Given the description of an element on the screen output the (x, y) to click on. 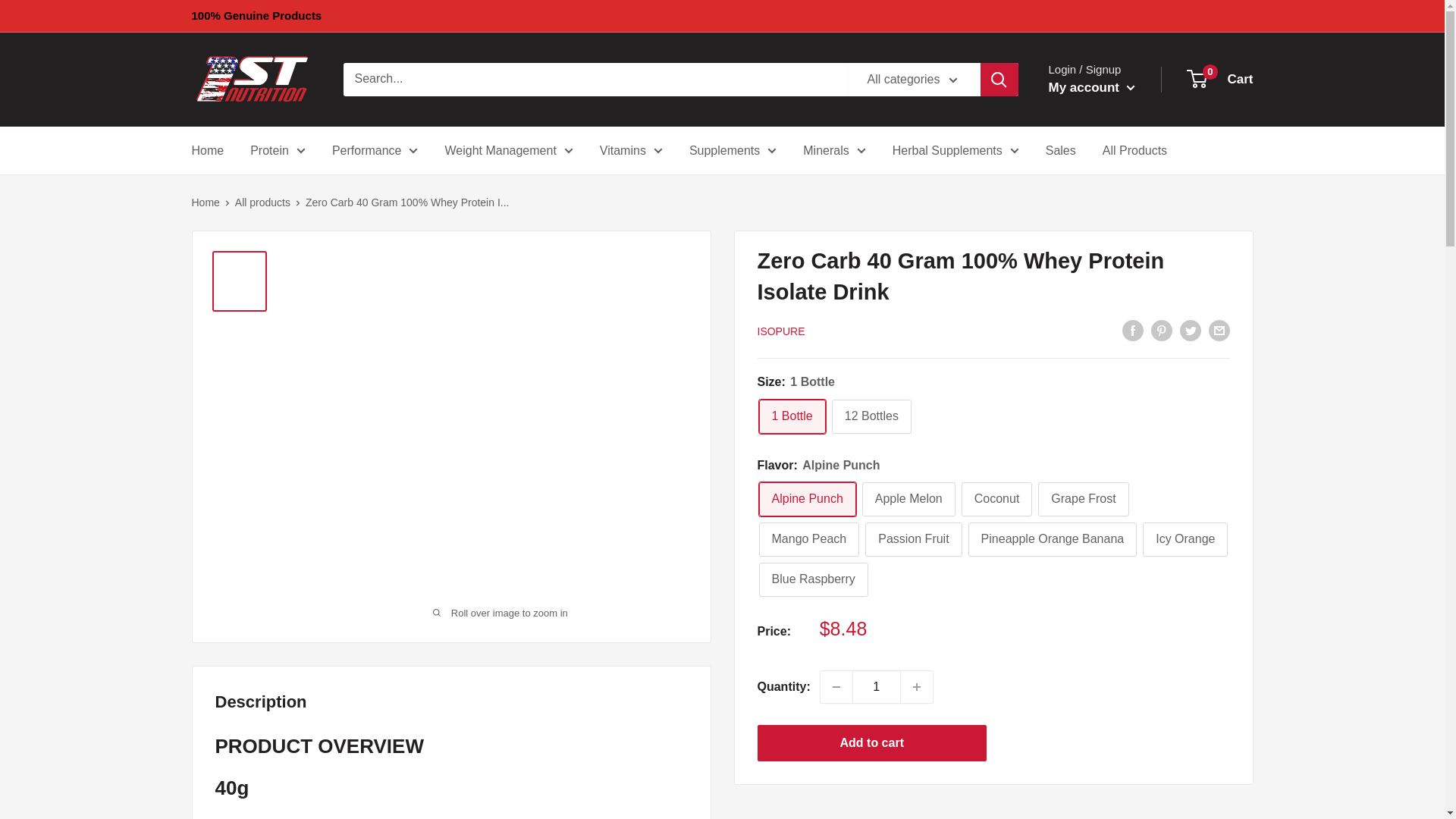
1 (876, 686)
Apple Melon (908, 499)
Increase quantity by 1 (917, 686)
Passion Fruit (912, 539)
Icy Orange (1184, 539)
Blue Raspberry (812, 579)
12 Bottles (871, 416)
Coconut (996, 499)
Grape Frost (1083, 499)
Decrease quantity by 1 (836, 686)
